Given the description of an element on the screen output the (x, y) to click on. 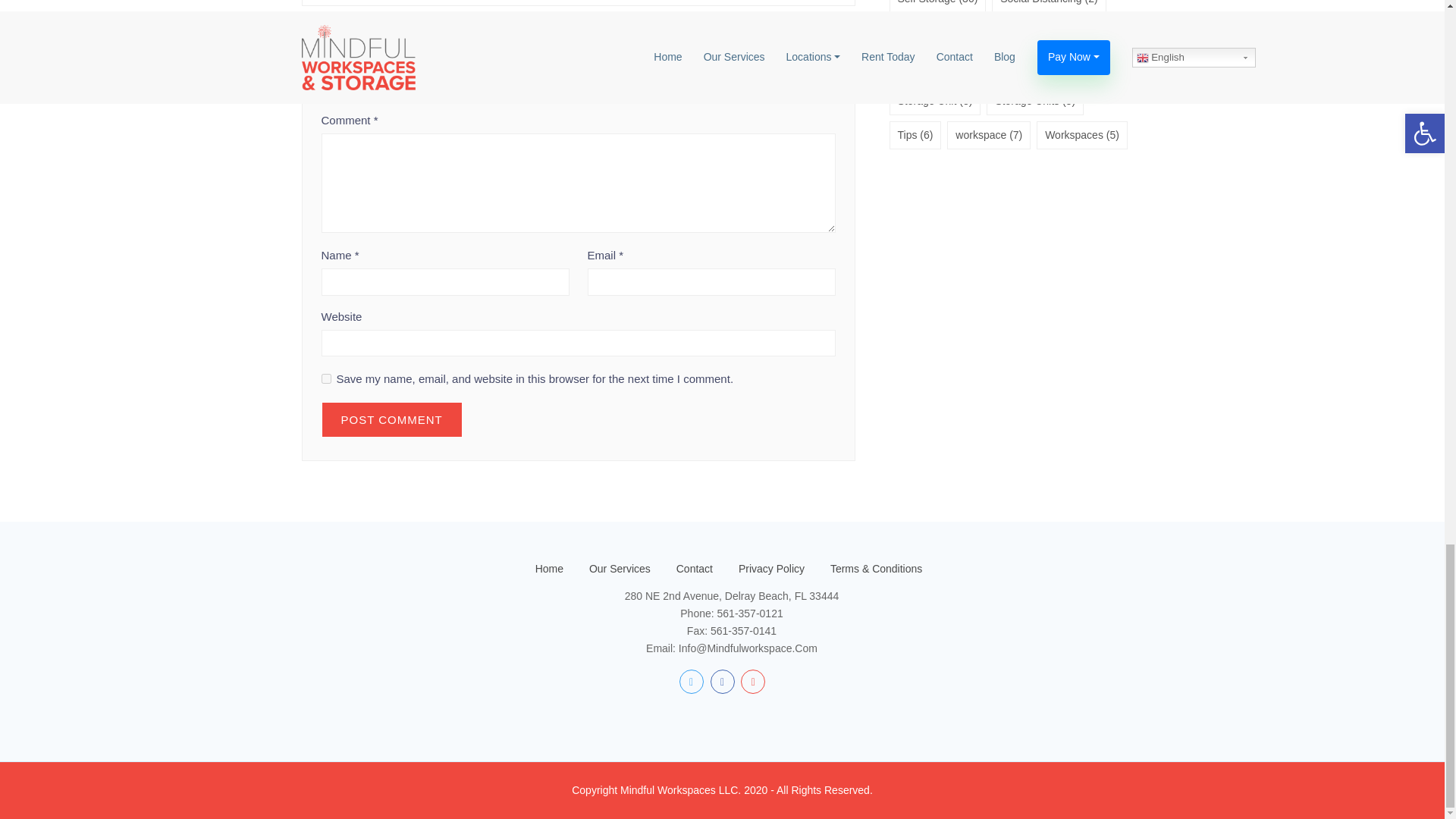
yes (326, 378)
Post Comment (392, 419)
